Given the description of an element on the screen output the (x, y) to click on. 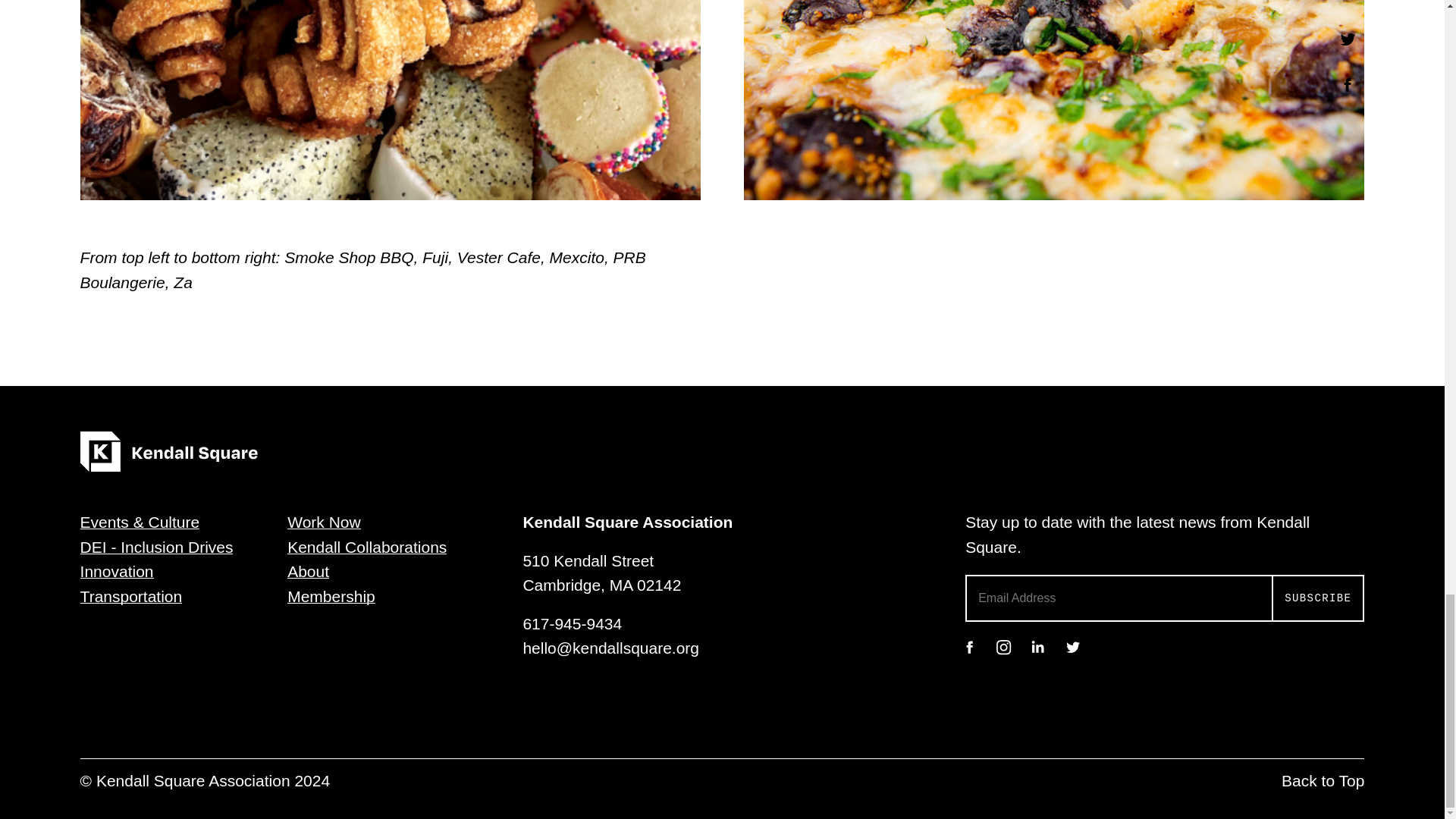
Transportation (131, 596)
DEI - Inclusion Drives Innovation (156, 559)
subscribe (1317, 597)
Back to Top (1322, 780)
Work Now (322, 521)
